Given the description of an element on the screen output the (x, y) to click on. 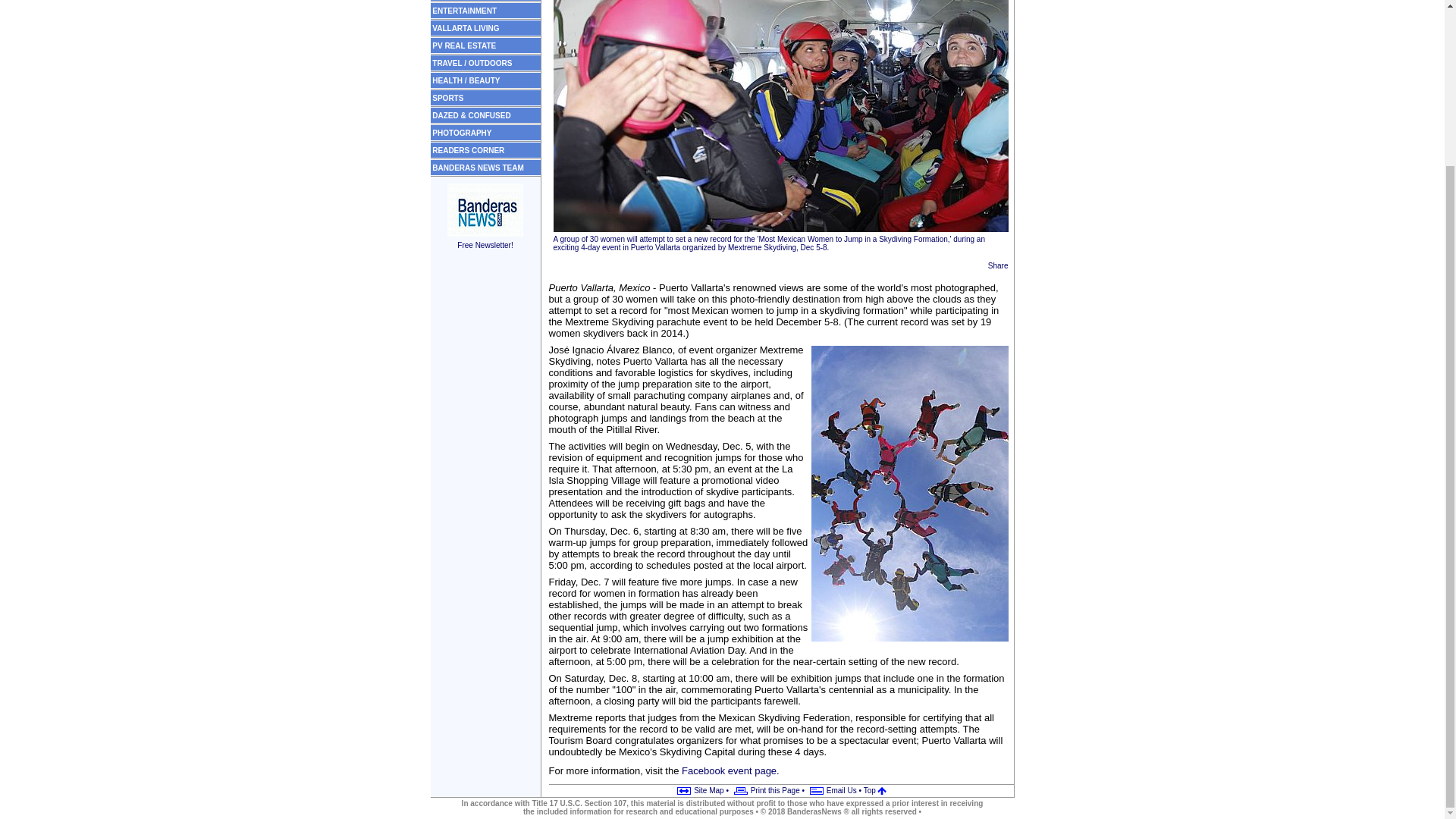
PV REAL ESTATE (464, 44)
Share (998, 265)
Free Newsletter! (484, 239)
READERS CORNER (467, 149)
PHOTOGRAPHY (462, 132)
BANDERAS NEWS TEAM (478, 167)
Site Map (698, 790)
ENTERTAINMENT (464, 9)
SPORTS (447, 98)
Facebook event page. (729, 770)
